Given the description of an element on the screen output the (x, y) to click on. 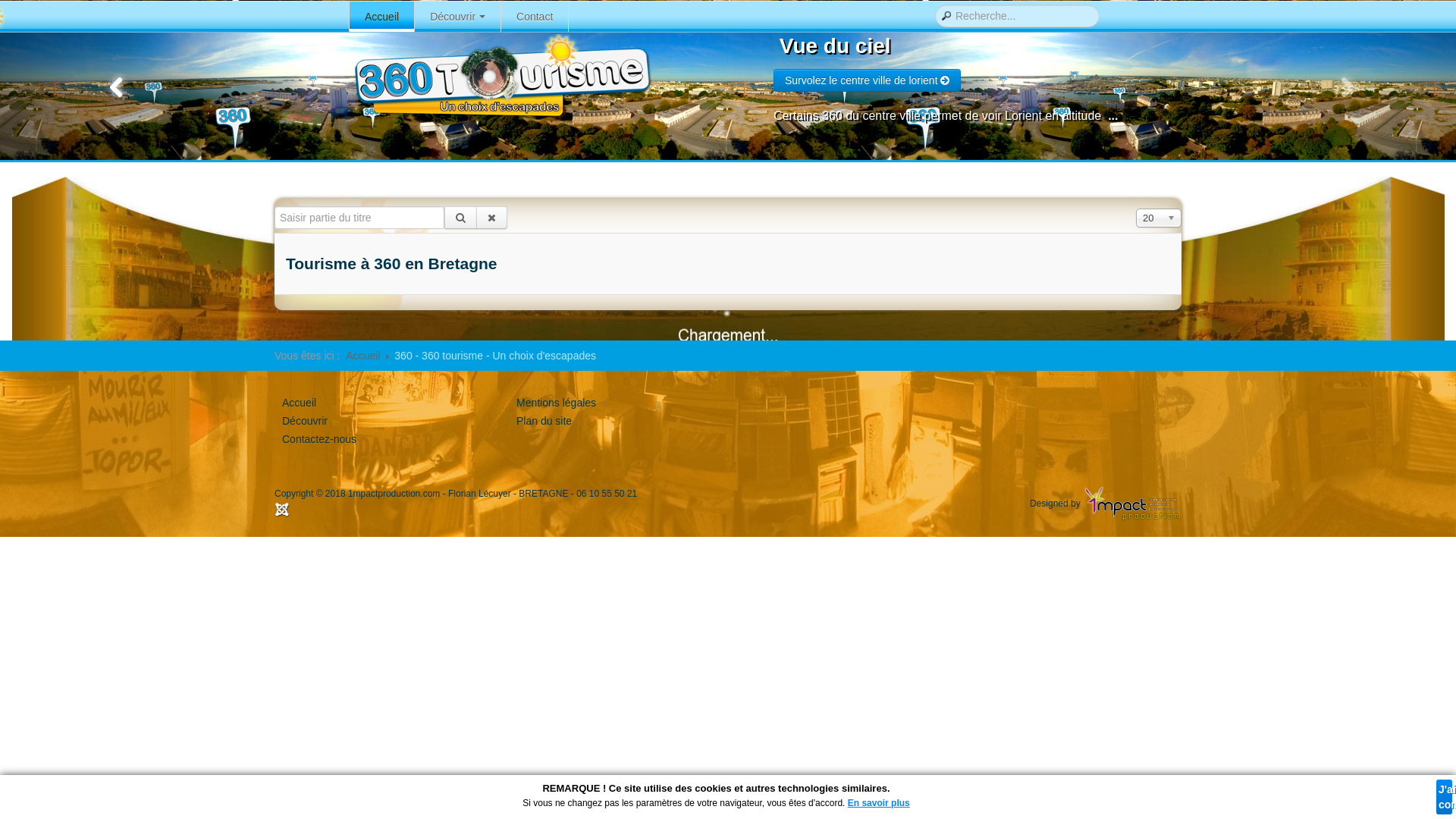
Contact Element type: text (534, 16)
Plan du site Element type: text (543, 420)
20 Element type: text (1158, 216)
Accueil Element type: text (362, 355)
Accueil Element type: text (381, 16)
Effacer Element type: hover (491, 217)
Rechercher Element type: hover (460, 217)
Designed by Element type: text (1105, 503)
360tourisme.com Element type: hover (500, 75)
06 10 55 50 21 Element type: text (606, 493)
Survolez le centre ville de lorient  Element type: text (866, 80)
1mpactproduction.com Element type: text (393, 493)
Contactez-nous Element type: text (319, 439)
Accueil Element type: text (299, 402)
